Given the description of an element on the screen output the (x, y) to click on. 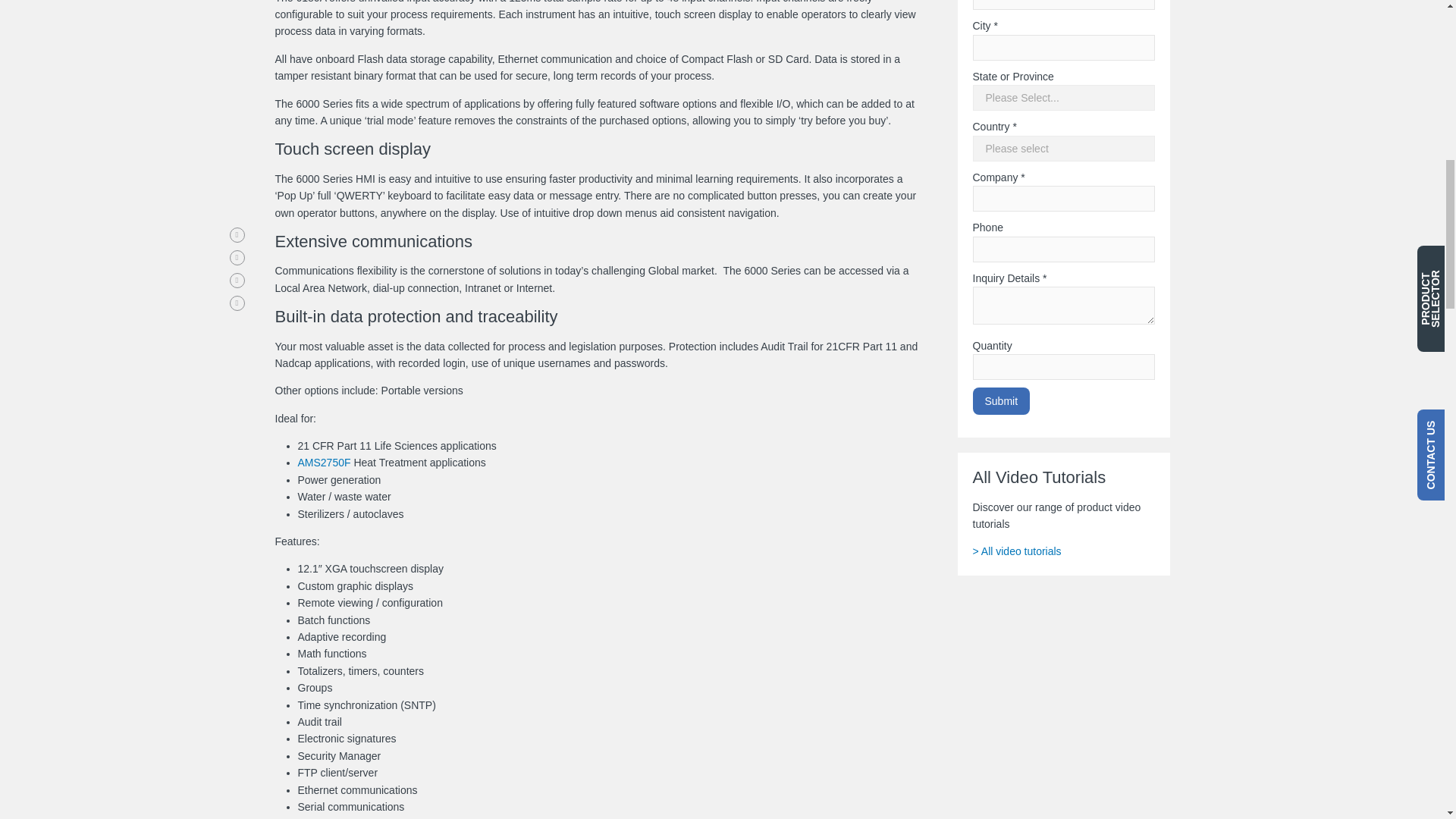
Submit (1000, 343)
